Given the description of an element on the screen output the (x, y) to click on. 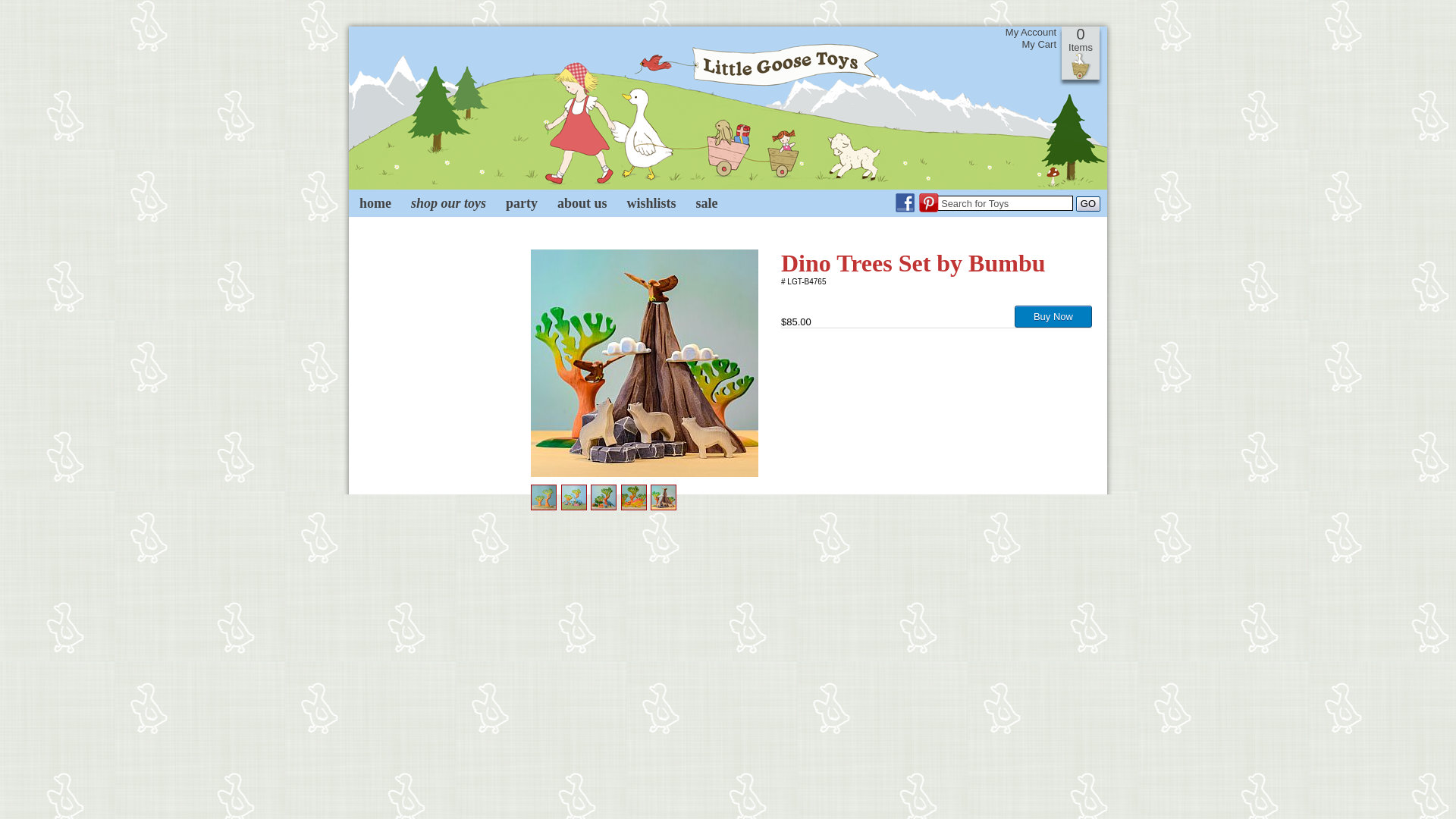
My Account (1031, 32)
GO (1087, 202)
wishlists (651, 203)
home (375, 203)
party (521, 203)
My Cart (1031, 44)
Search for Toys (1004, 202)
shop our toys (448, 203)
sale (706, 203)
Like us on Facebook! (903, 209)
